Given the description of an element on the screen output the (x, y) to click on. 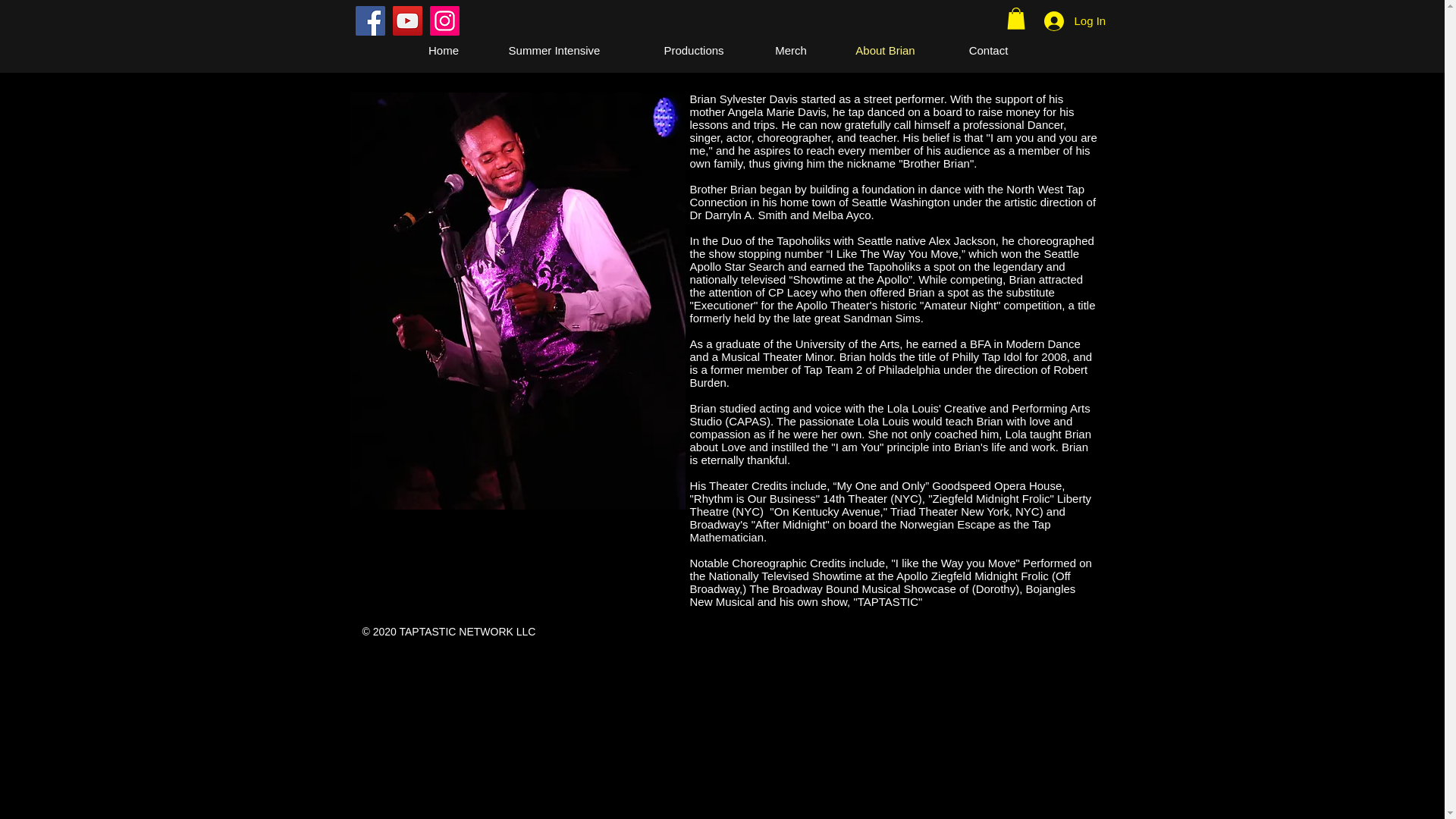
Productions (692, 50)
Merch (791, 50)
Home (443, 50)
Summer Intensive (554, 50)
About Brian (885, 50)
Contact (987, 50)
Log In (1062, 20)
